Given the description of an element on the screen output the (x, y) to click on. 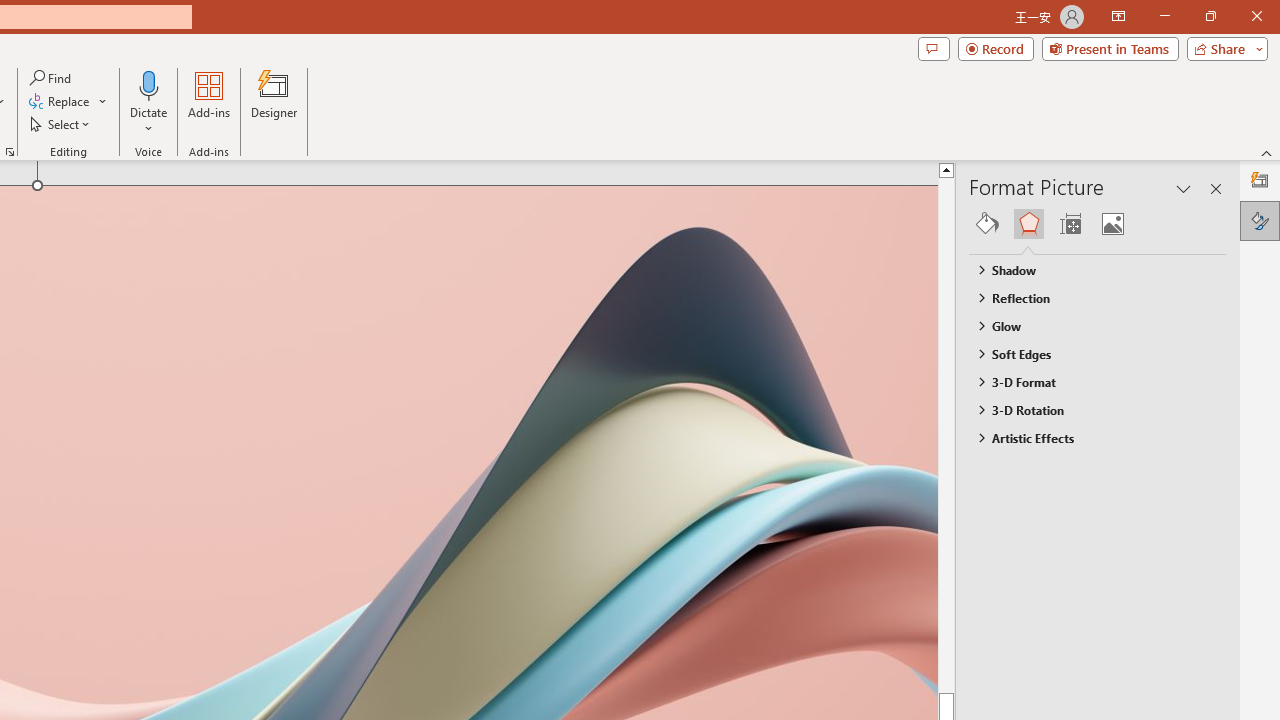
Fill & Line (987, 223)
Class: NetUIGalleryContainer (1098, 223)
Format Picture (1260, 220)
